Given the description of an element on the screen output the (x, y) to click on. 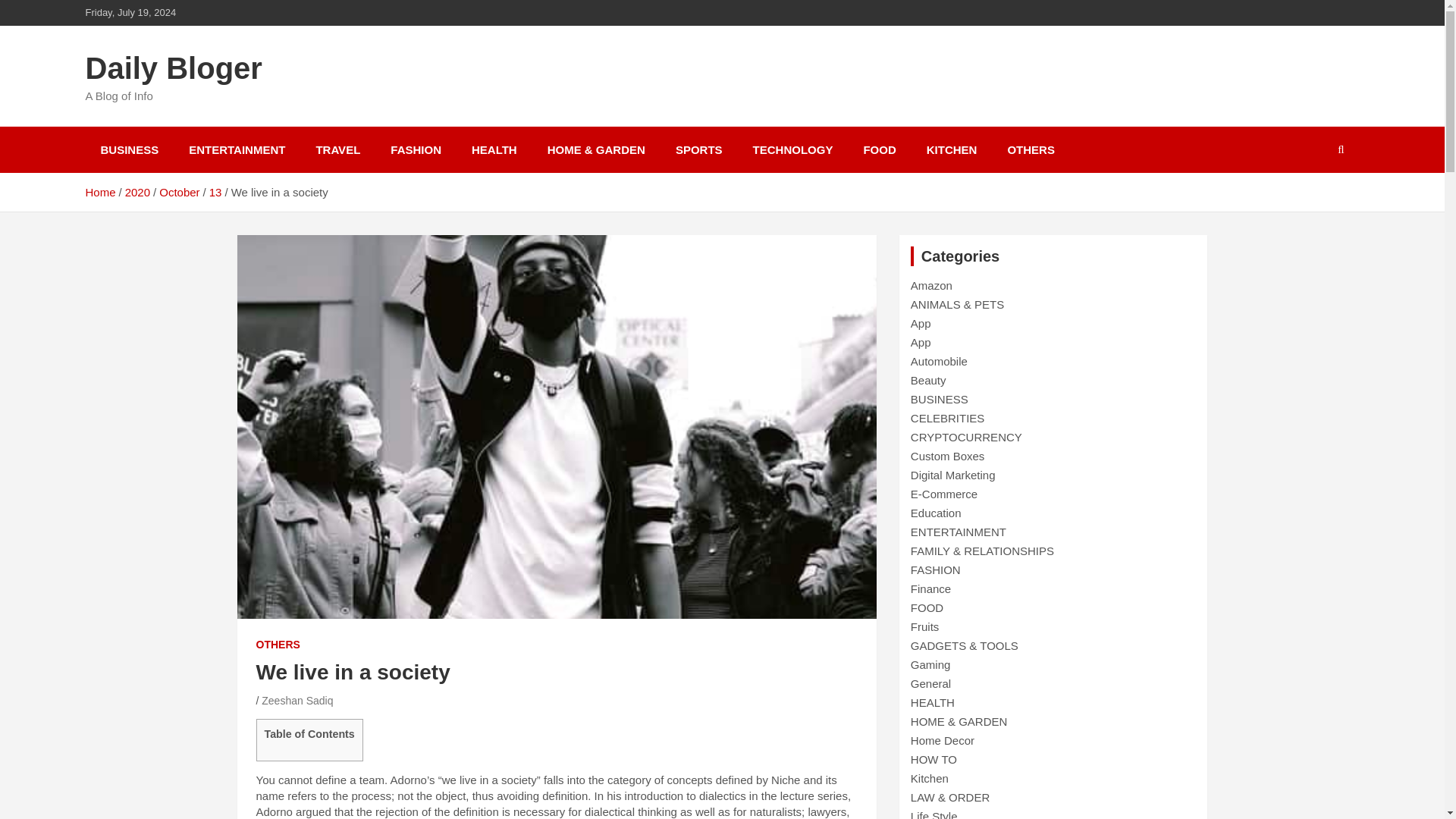
CRYPTOCURRENCY (966, 436)
Education (935, 512)
E-Commerce (943, 493)
SPORTS (699, 149)
2020 (137, 192)
OTHERS (1030, 149)
CELEBRITIES (948, 418)
Zeeshan Sadiq (297, 700)
App (921, 323)
TRAVEL (337, 149)
Amazon (931, 285)
OTHERS (277, 645)
App (921, 341)
13 (215, 192)
FASHION (416, 149)
